Given the description of an element on the screen output the (x, y) to click on. 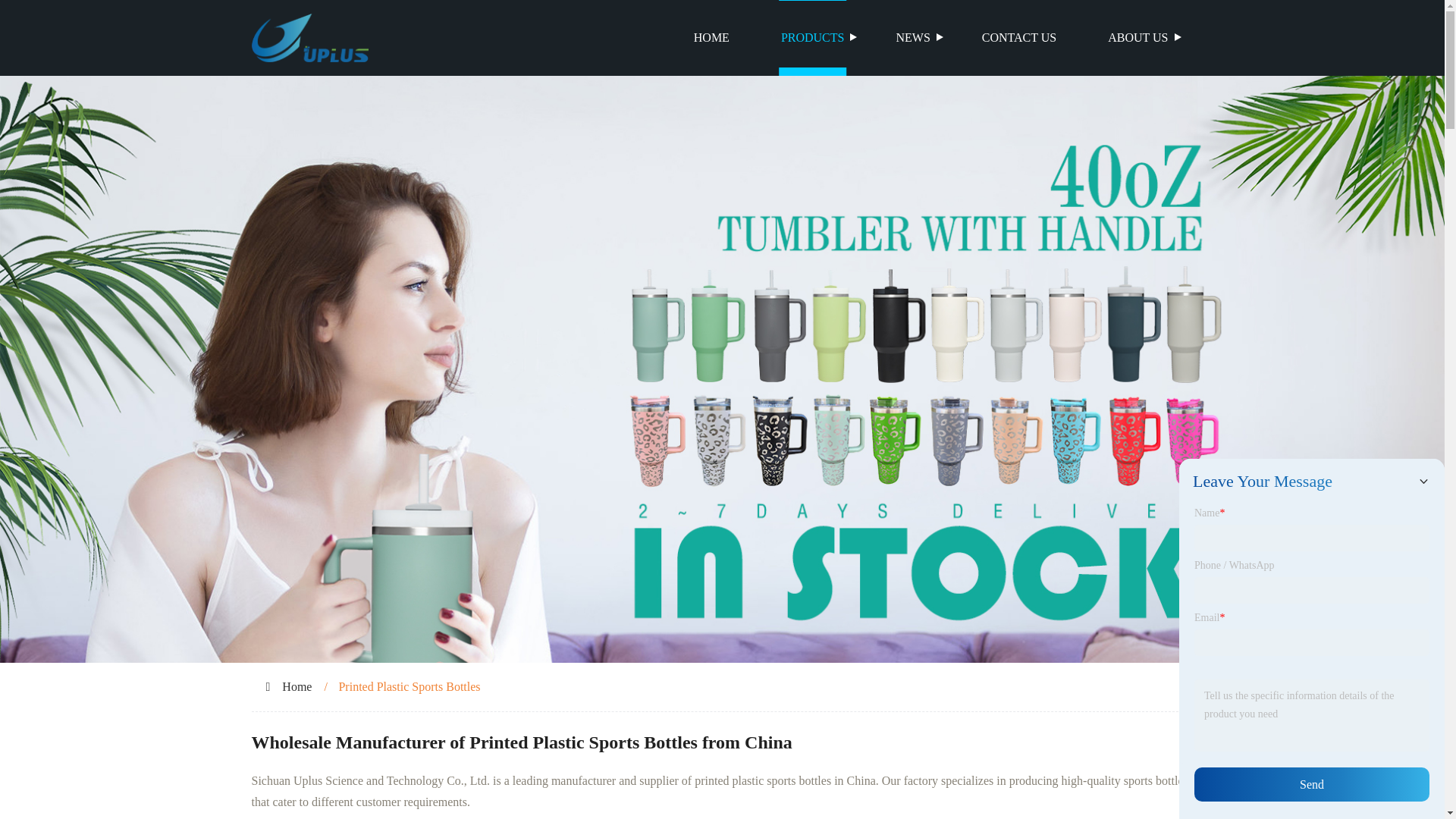
Home (296, 686)
CONTACT US (1018, 38)
PRODUCTS (812, 38)
